Given the description of an element on the screen output the (x, y) to click on. 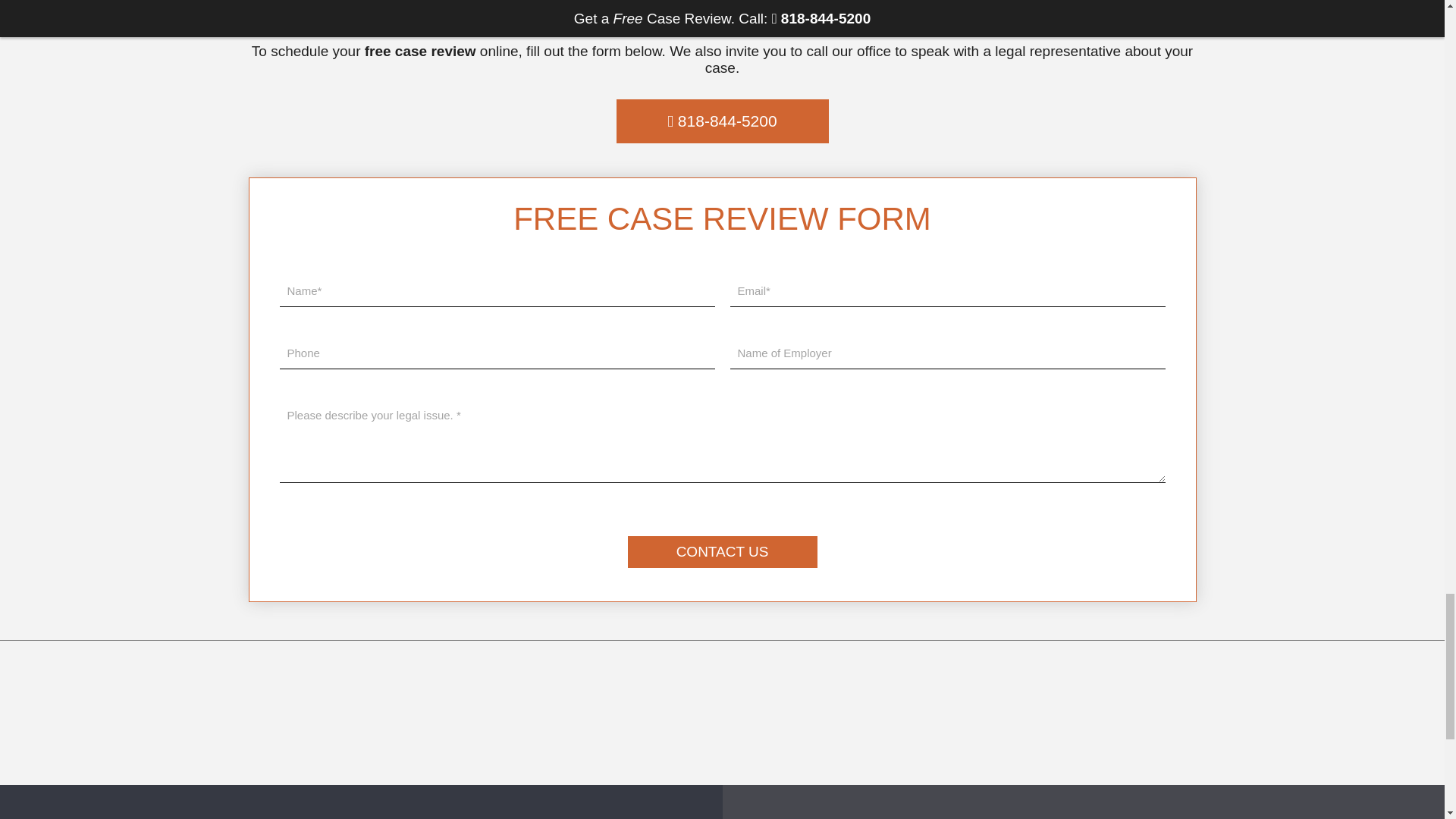
Contact Us (721, 552)
Call Us (721, 121)
